Given the description of an element on the screen output the (x, y) to click on. 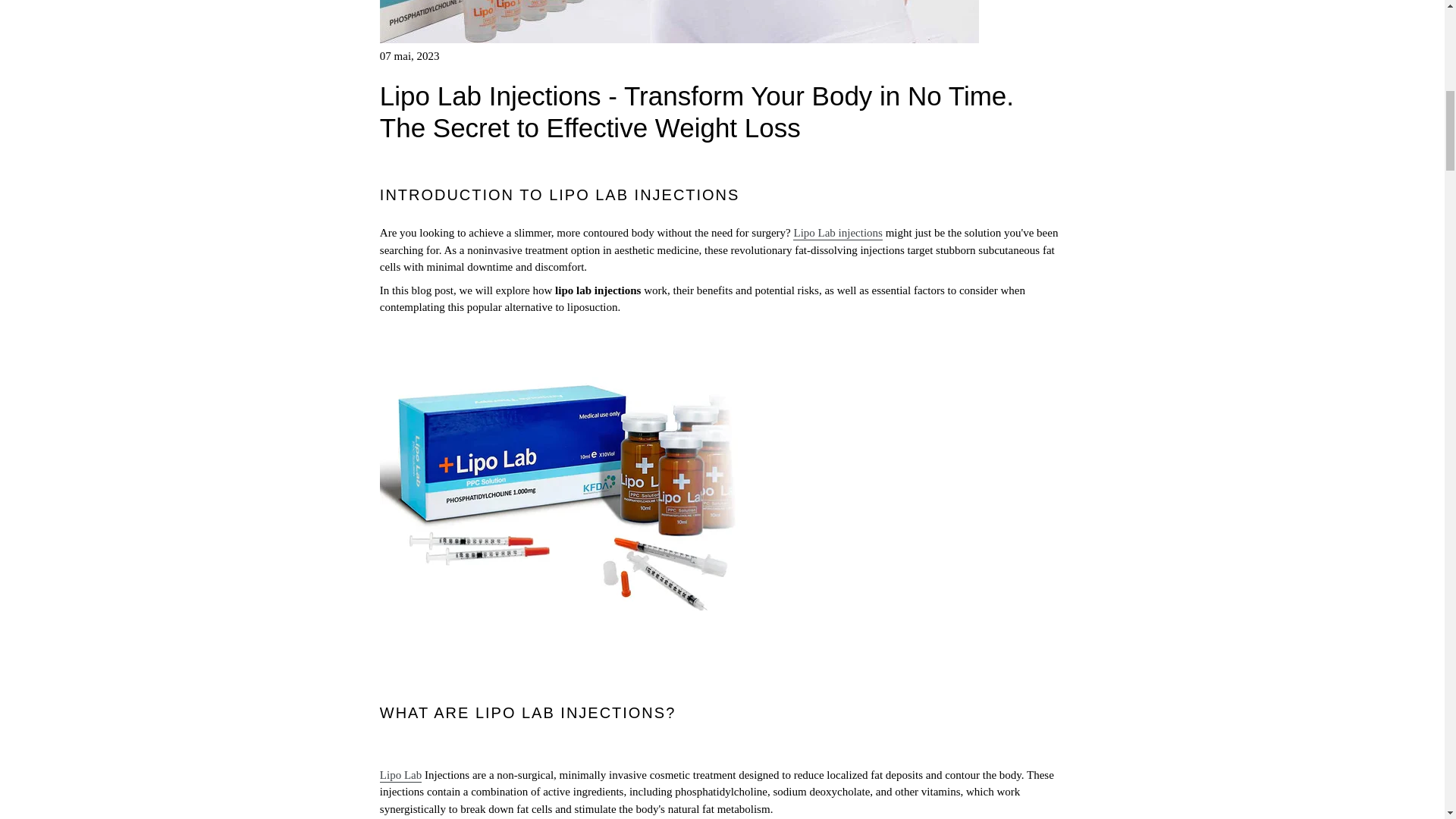
Lipo Lab (401, 775)
